Given the description of an element on the screen output the (x, y) to click on. 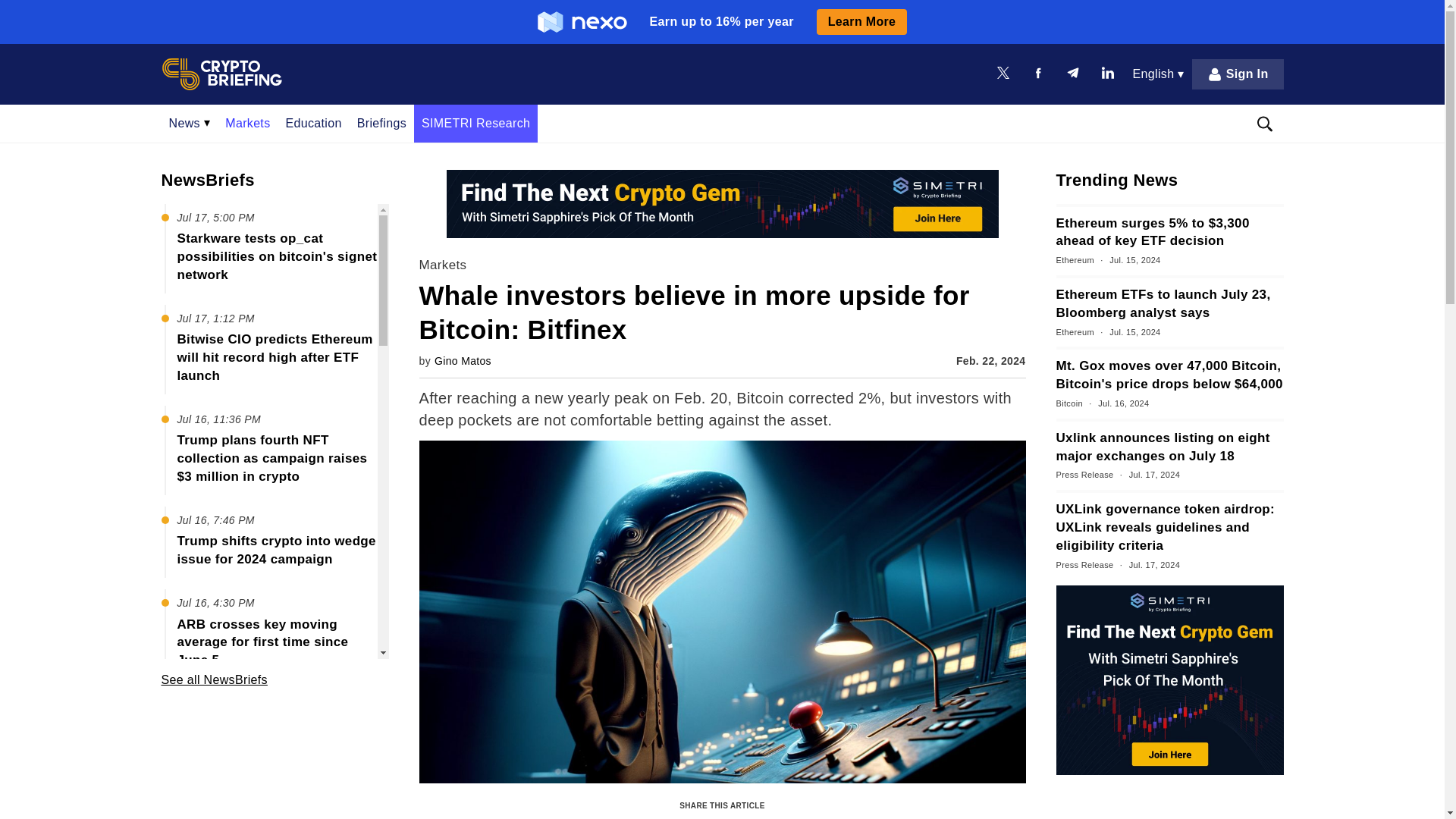
Learn More (861, 22)
Sign In (1238, 73)
News (188, 123)
Sign In (1238, 73)
